Given the description of an element on the screen output the (x, y) to click on. 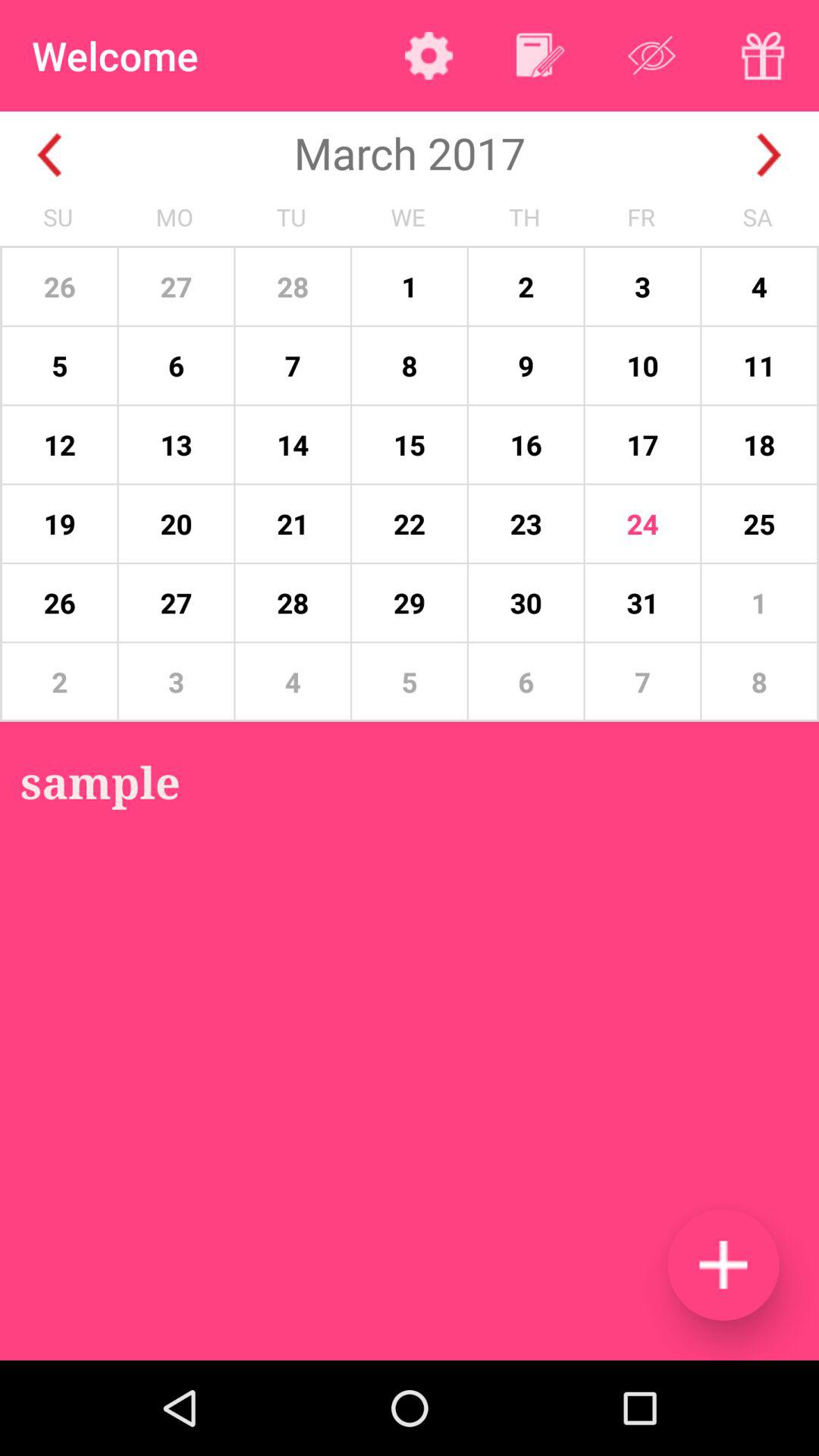
turn off the app next to the welcome (428, 55)
